Given the description of an element on the screen output the (x, y) to click on. 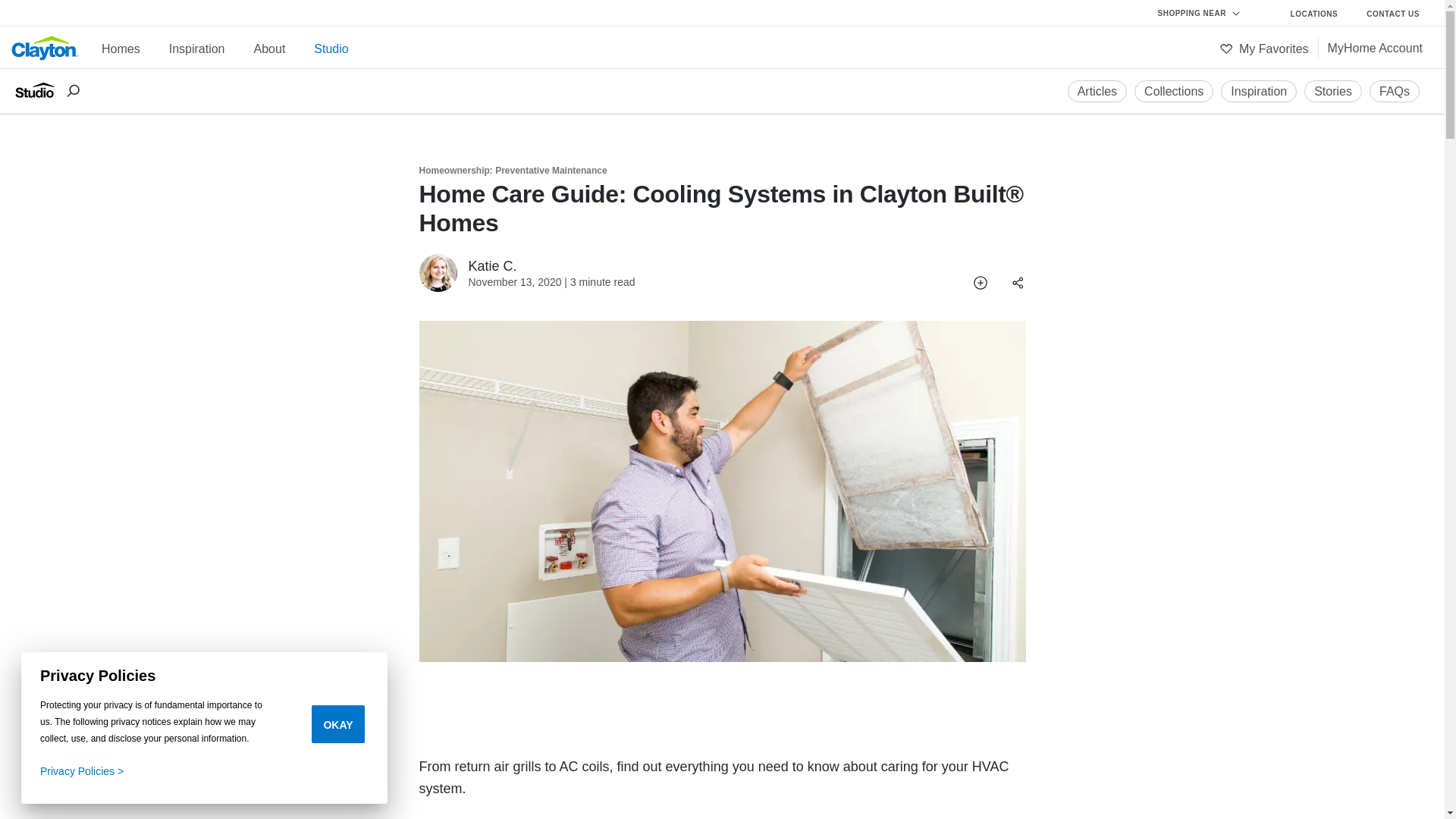
My Favorites (1264, 48)
LOCATIONS (1314, 13)
Stories (1332, 91)
CONTACT US (1392, 13)
Articles (1096, 91)
Studio (330, 48)
Articles (1096, 91)
Homes (120, 48)
FAQs (1394, 91)
Katie C. (438, 272)
SHOPPING NEAR (1206, 14)
Homeownership: Preventative Maintenance (513, 170)
Inspiration (1259, 91)
Collections (1173, 91)
Clayton Homes (45, 57)
